Given the description of an element on the screen output the (x, y) to click on. 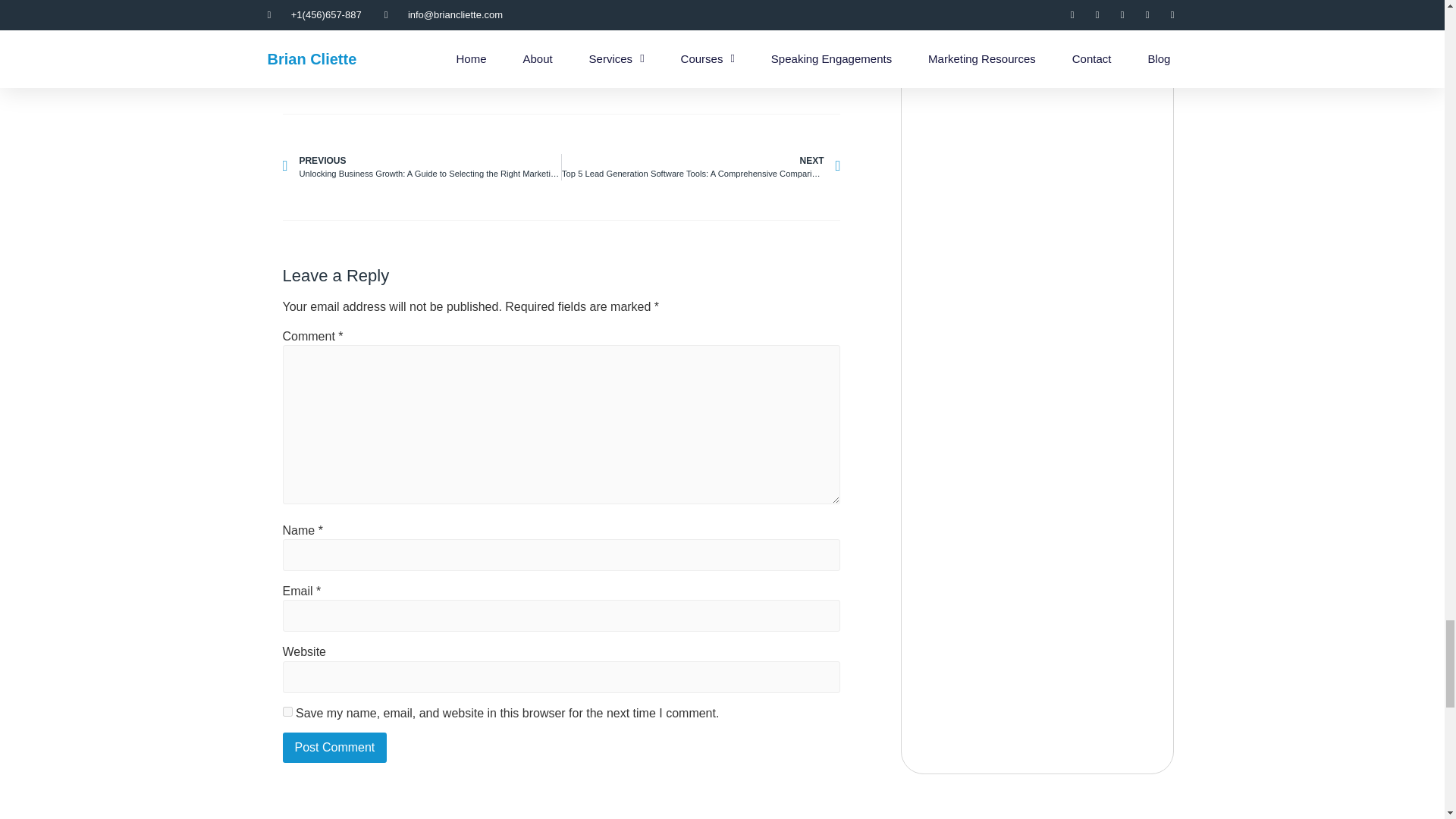
Post Comment (334, 747)
yes (287, 711)
